Given the description of an element on the screen output the (x, y) to click on. 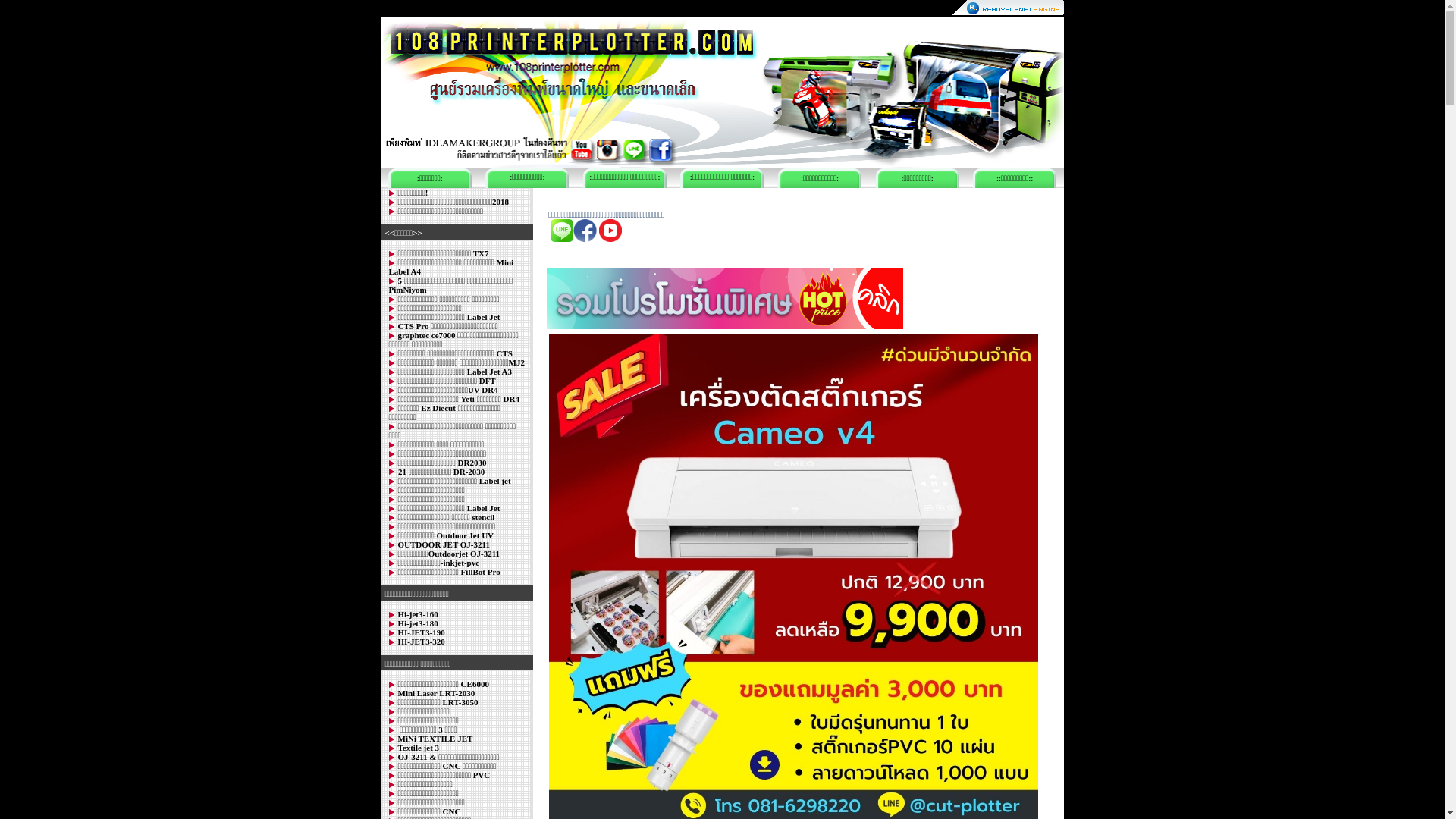
HI-JET3-320 Element type: text (420, 641)
Hi-jet3-180 Element type: text (417, 622)
Textile jet 3 Element type: text (418, 747)
HI-JET3-190 Element type: text (420, 632)
ReadyPlanet.com Element type: hover (1007, 7)
MiNi TEXTILE JET Element type: text (434, 738)
Hi-jet3-160 Element type: text (417, 613)
OUTDOOR JET OJ-3211 Element type: text (443, 544)
Mini Laser LRT-2030 Element type: text (435, 692)
